Given the description of an element on the screen output the (x, y) to click on. 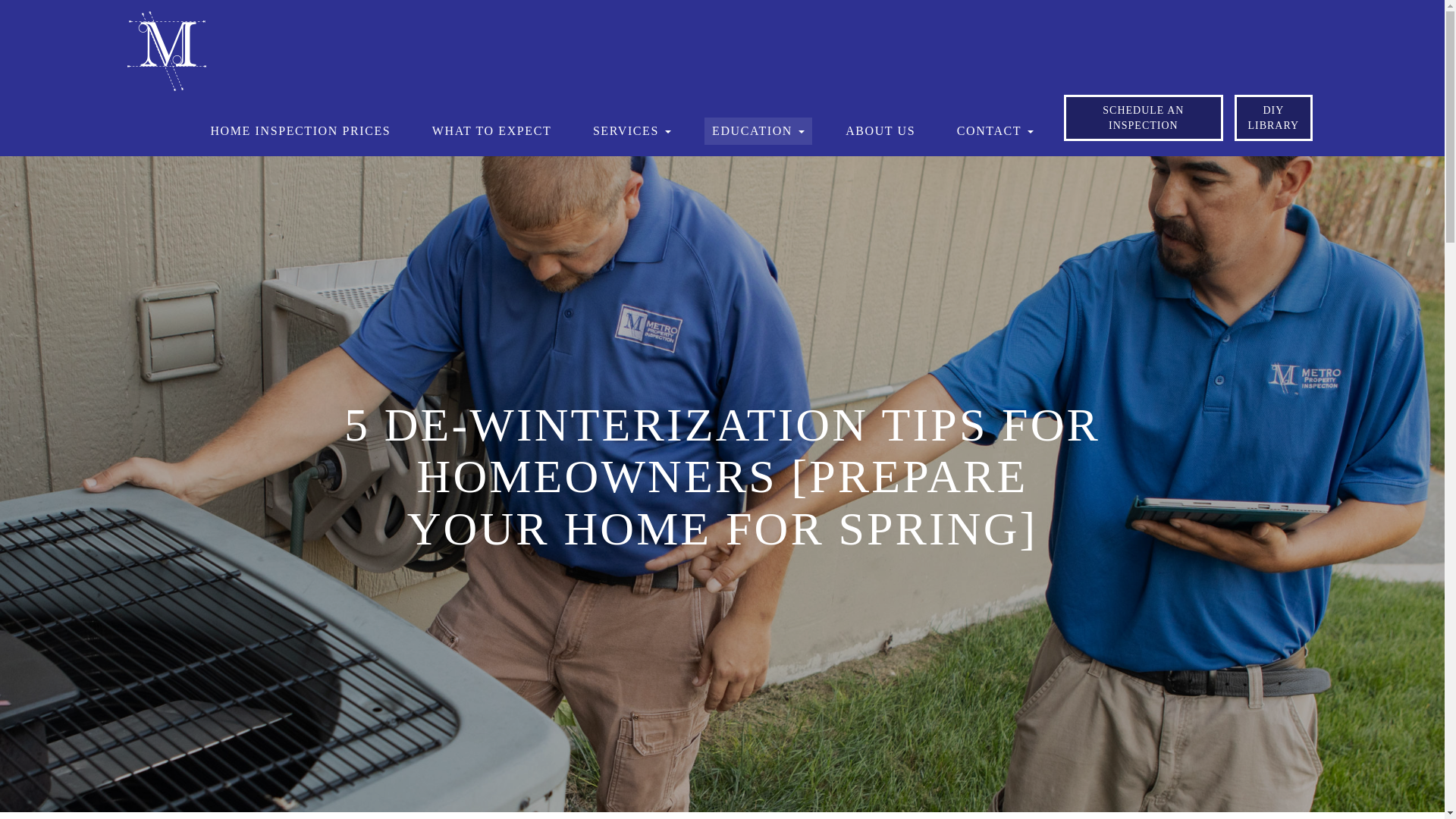
CONTACT (995, 130)
Metro Property Inspection (167, 49)
SCHEDULE AN INSPECTION (1142, 117)
EDUCATION (758, 130)
ABOUT US (880, 130)
SERVICES (631, 130)
DIY LIBRARY (1273, 117)
HOME INSPECTION PRICES (299, 130)
WHAT TO EXPECT (492, 130)
